Given the description of an element on the screen output the (x, y) to click on. 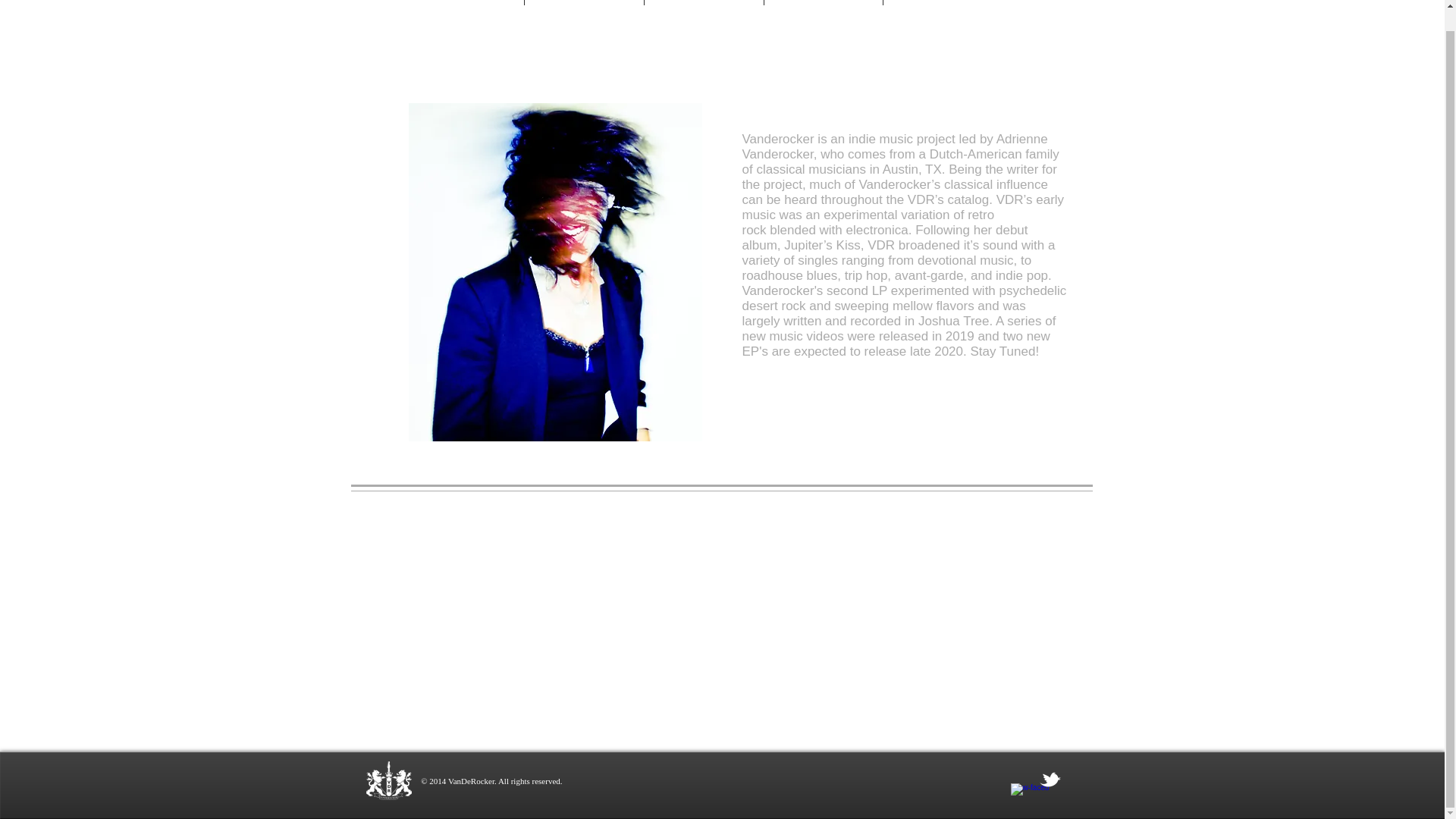
MUSIC (583, 2)
VANDEROCKER (462, 2)
CONTACT (941, 2)
BIO (823, 2)
VIDEOS (703, 2)
